Given the description of an element on the screen output the (x, y) to click on. 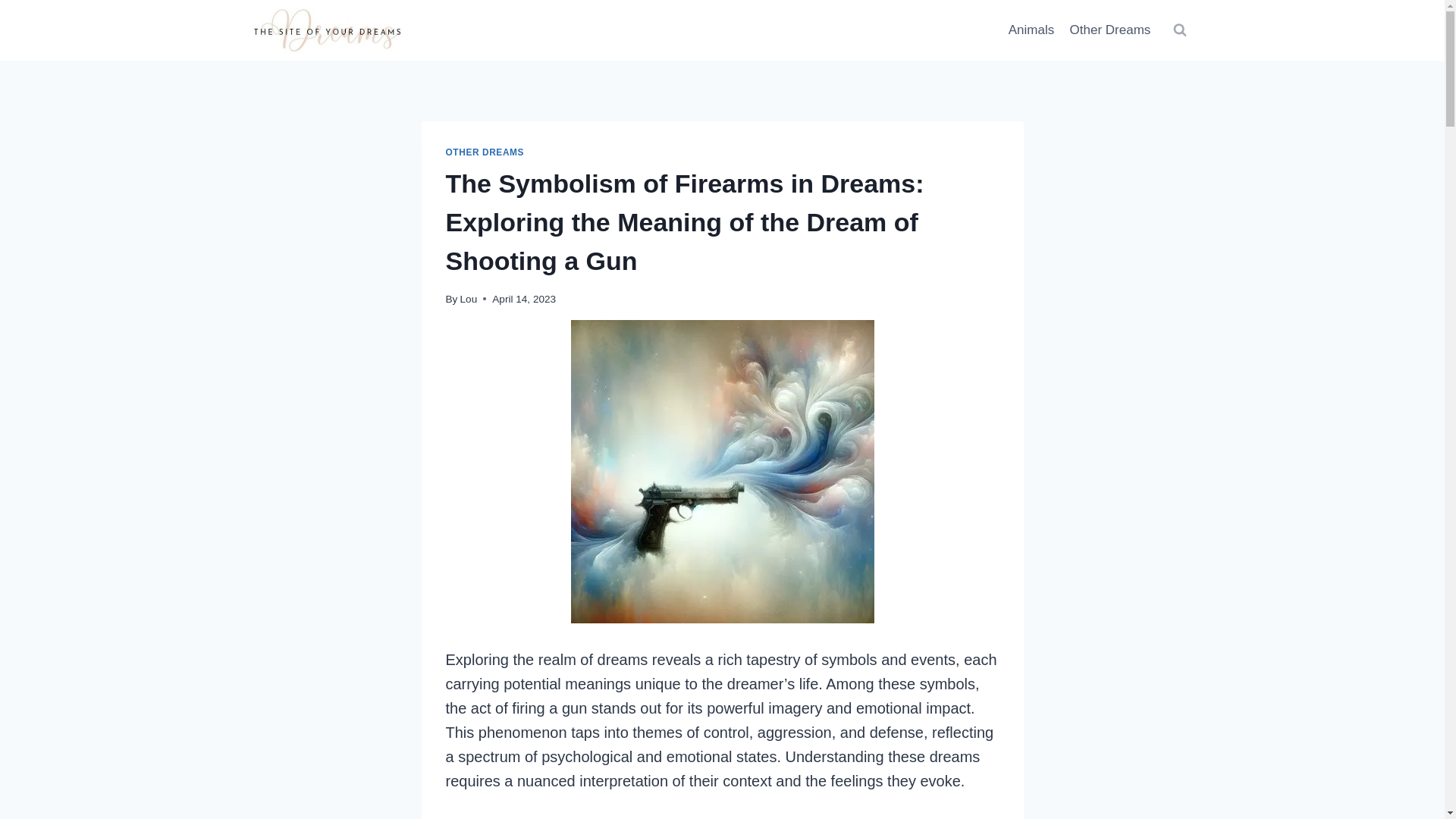
Other Dreams (1109, 30)
OTHER DREAMS (484, 152)
Animals (1031, 30)
Lou (468, 298)
